Given the description of an element on the screen output the (x, y) to click on. 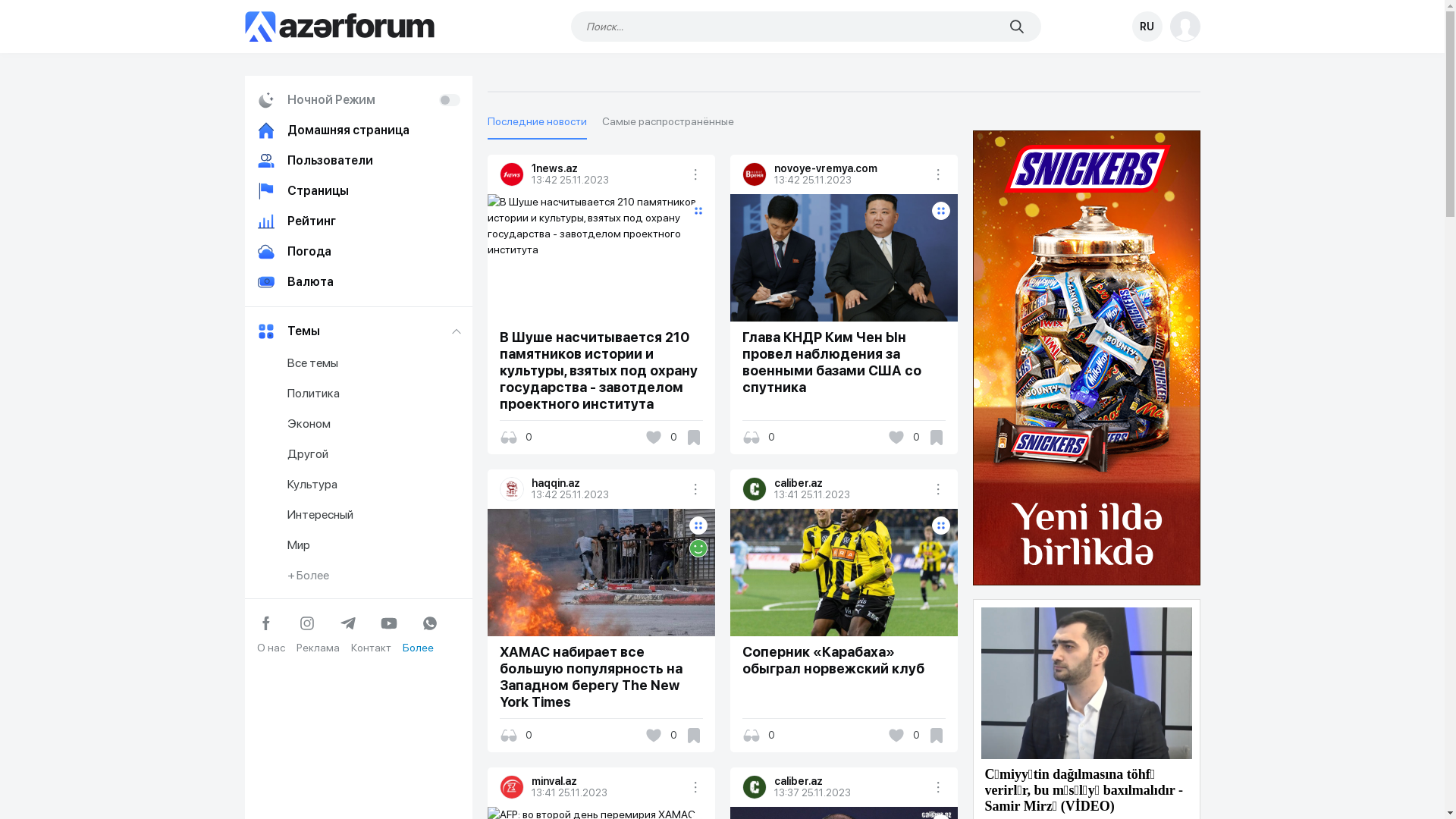
caliber.az Element type: text (849, 482)
1news.az Element type: hover (511, 174)
haqqin.az Element type: hover (511, 488)
novoye-vremya.com Element type: hover (754, 174)
positive Element type: hover (697, 548)
novoye-vremya.com Element type: text (849, 168)
minval.az Element type: hover (511, 786)
minval.az Element type: text (607, 781)
caliber.az Element type: hover (754, 488)
1news.az Element type: text (607, 168)
caliber.az Element type: text (849, 781)
caliber.az Element type: hover (754, 786)
haqqin.az Element type: text (607, 482)
